Given the description of an element on the screen output the (x, y) to click on. 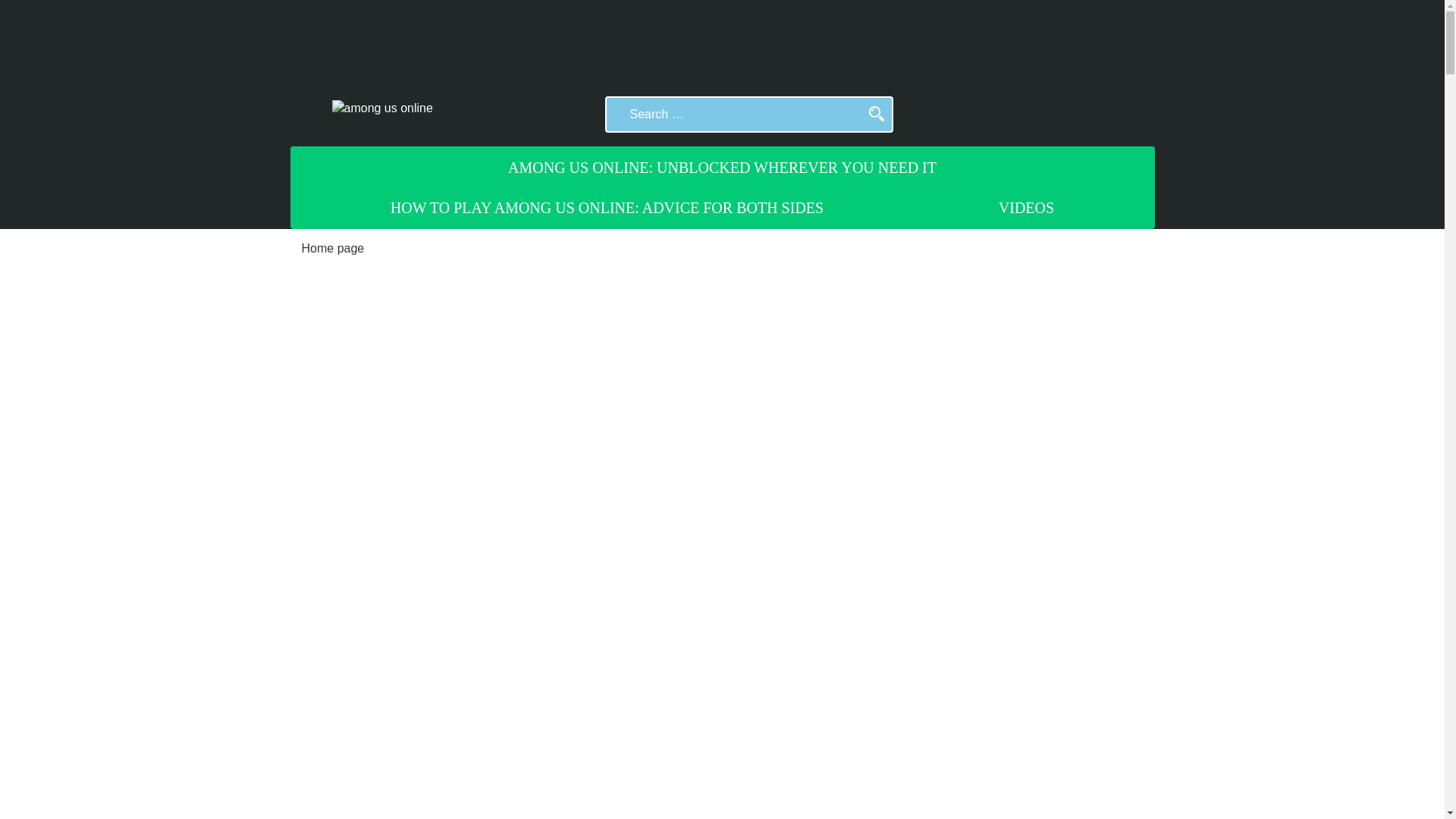
HOW TO PLAY AMONG US ONLINE: ADVICE FOR BOTH SIDES (606, 207)
AMONG US ONLINE: UNBLOCKED WHEREVER YOU NEED IT (721, 167)
Home page (333, 247)
VIDEOS (1026, 207)
